Given the description of an element on the screen output the (x, y) to click on. 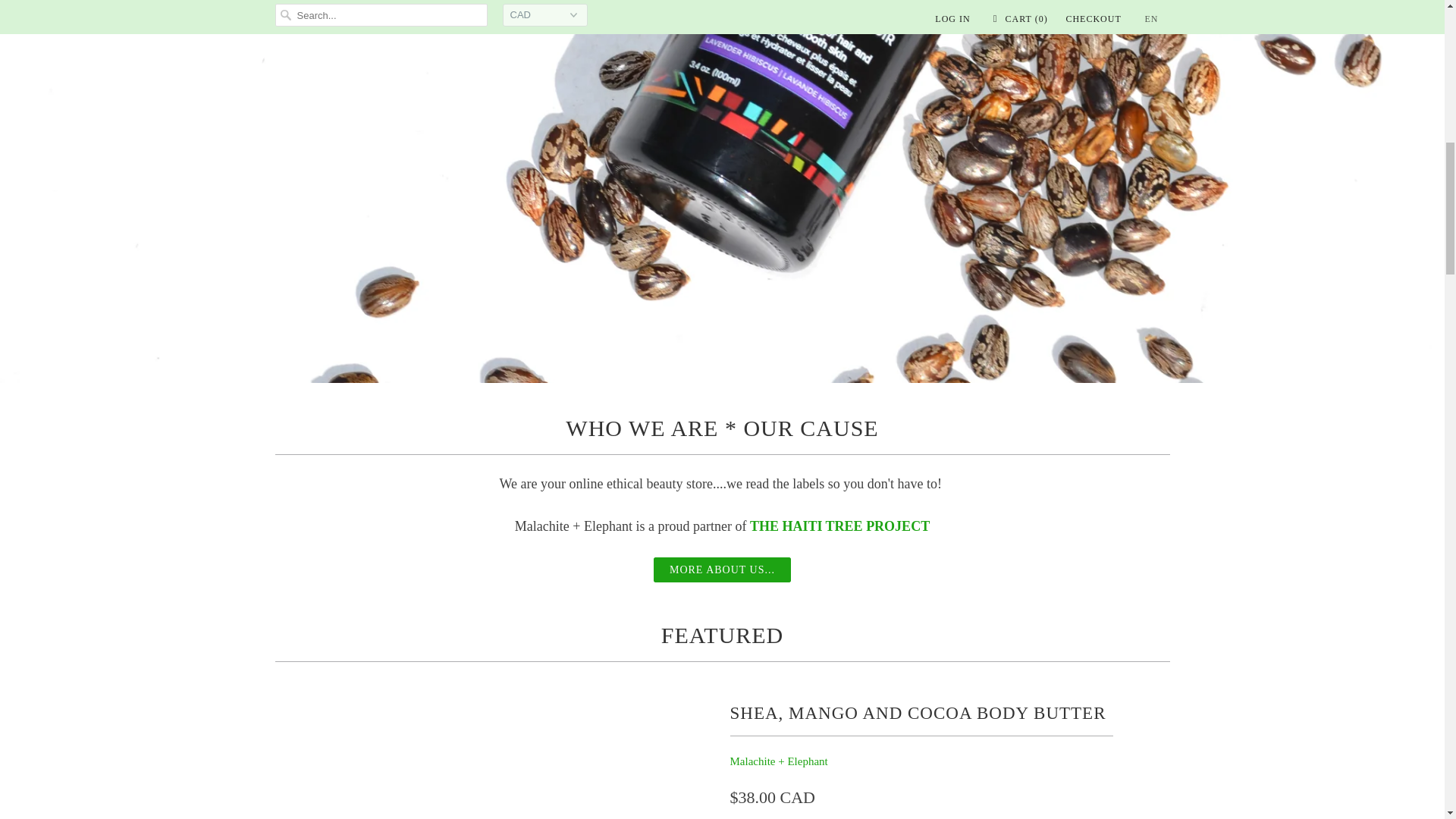
The Haiti Tree Project (839, 525)
Shea, Mango and Cocoa Body Butter (494, 759)
